Given the description of an element on the screen output the (x, y) to click on. 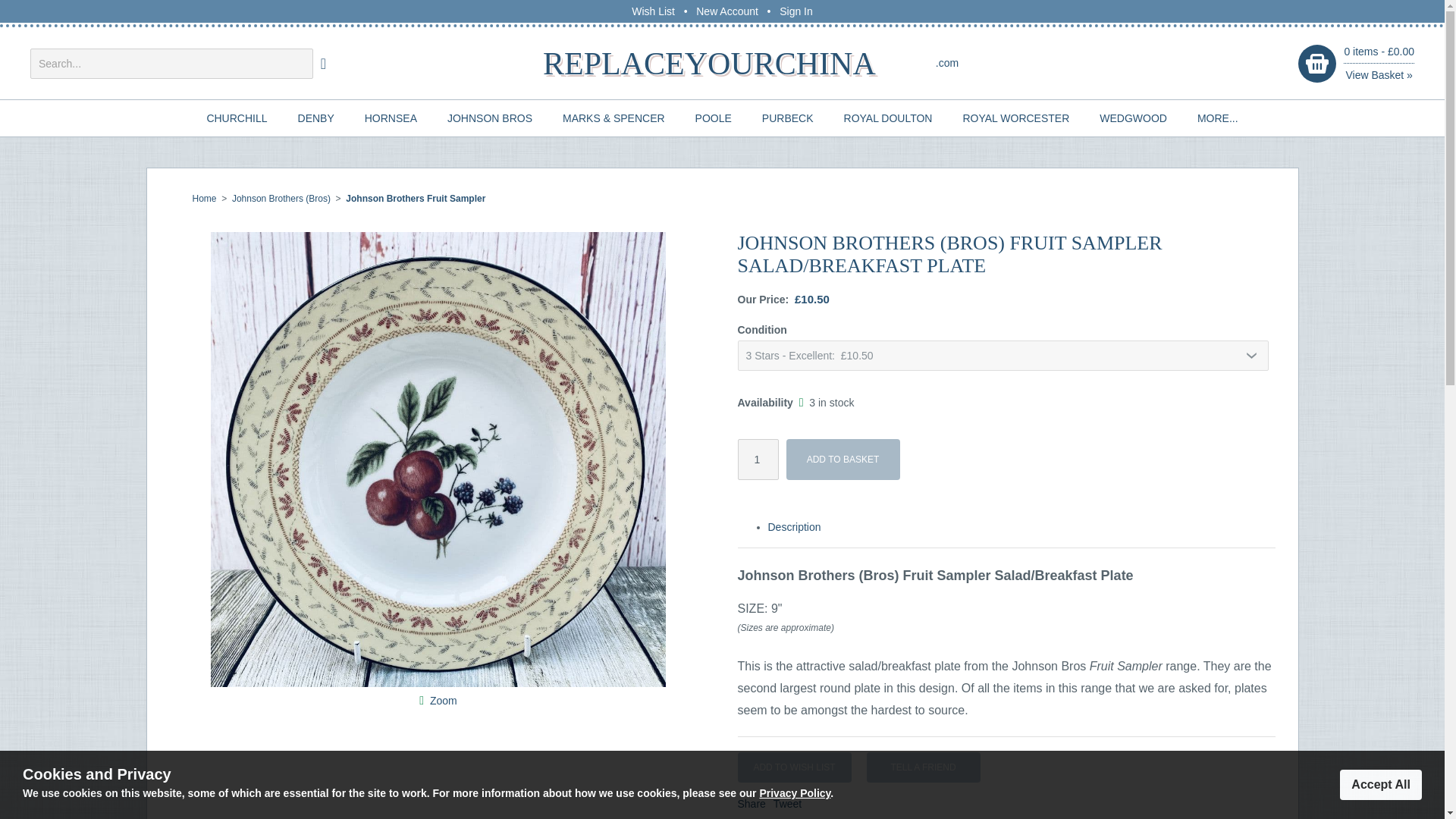
Share (750, 803)
TELL A FRIEND (922, 767)
Tweet (787, 803)
Johnson Brothers Fruit Sampler (415, 198)
1 (756, 458)
Zoom (443, 700)
ADD TO BASKET (842, 458)
Home (204, 198)
ADD TO WISH LIST (793, 767)
